Given the description of an element on the screen output the (x, y) to click on. 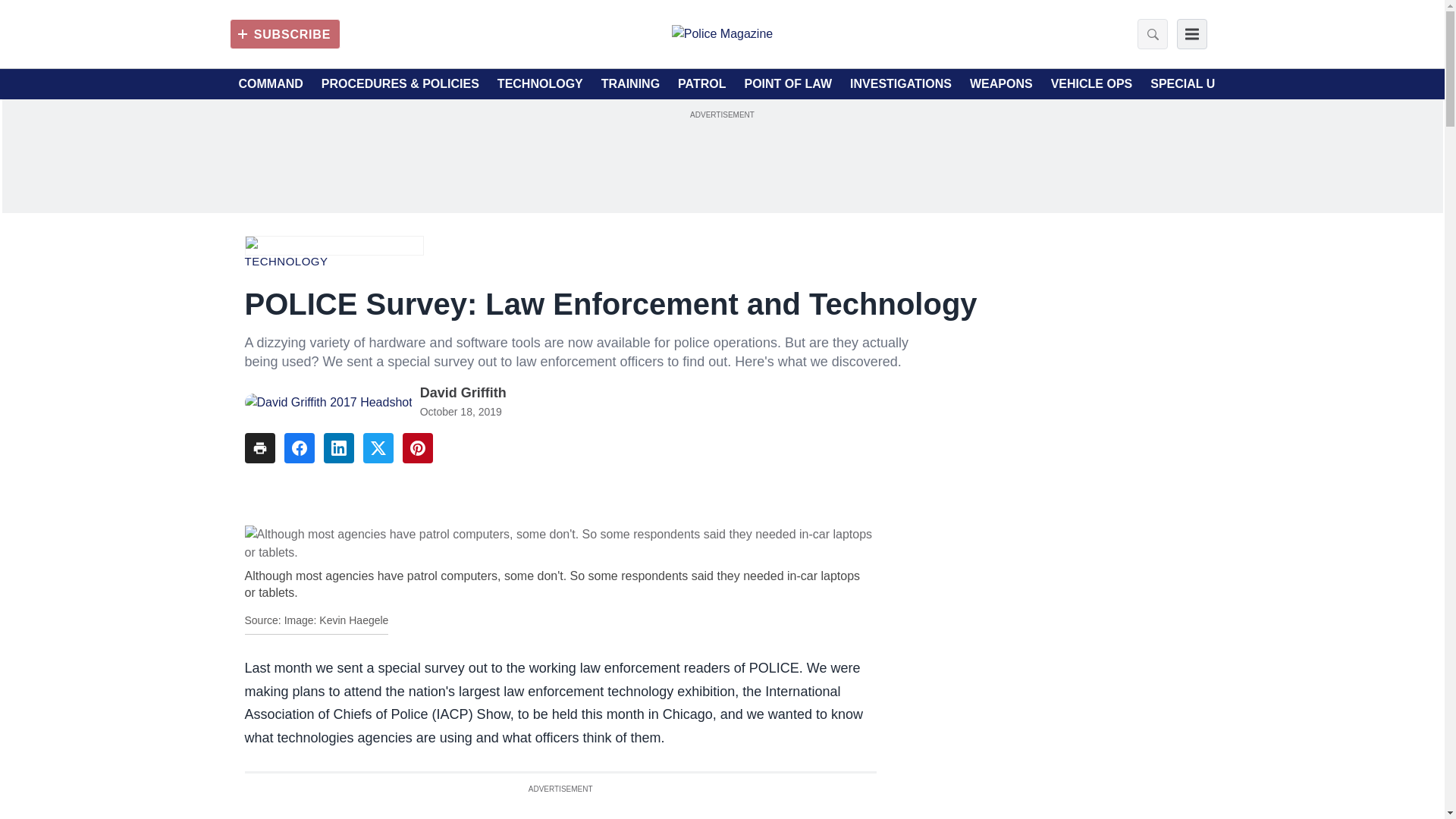
Technology (285, 260)
TECHNOLOGY (540, 84)
Share To pinterest (416, 448)
WEAPONS (1000, 84)
Share To linkedin (338, 448)
POINT OF LAW (787, 84)
Share To print (259, 448)
TRAINING (630, 84)
Share To twitter (377, 448)
VEHICLE OPS (1091, 84)
